Given the description of an element on the screen output the (x, y) to click on. 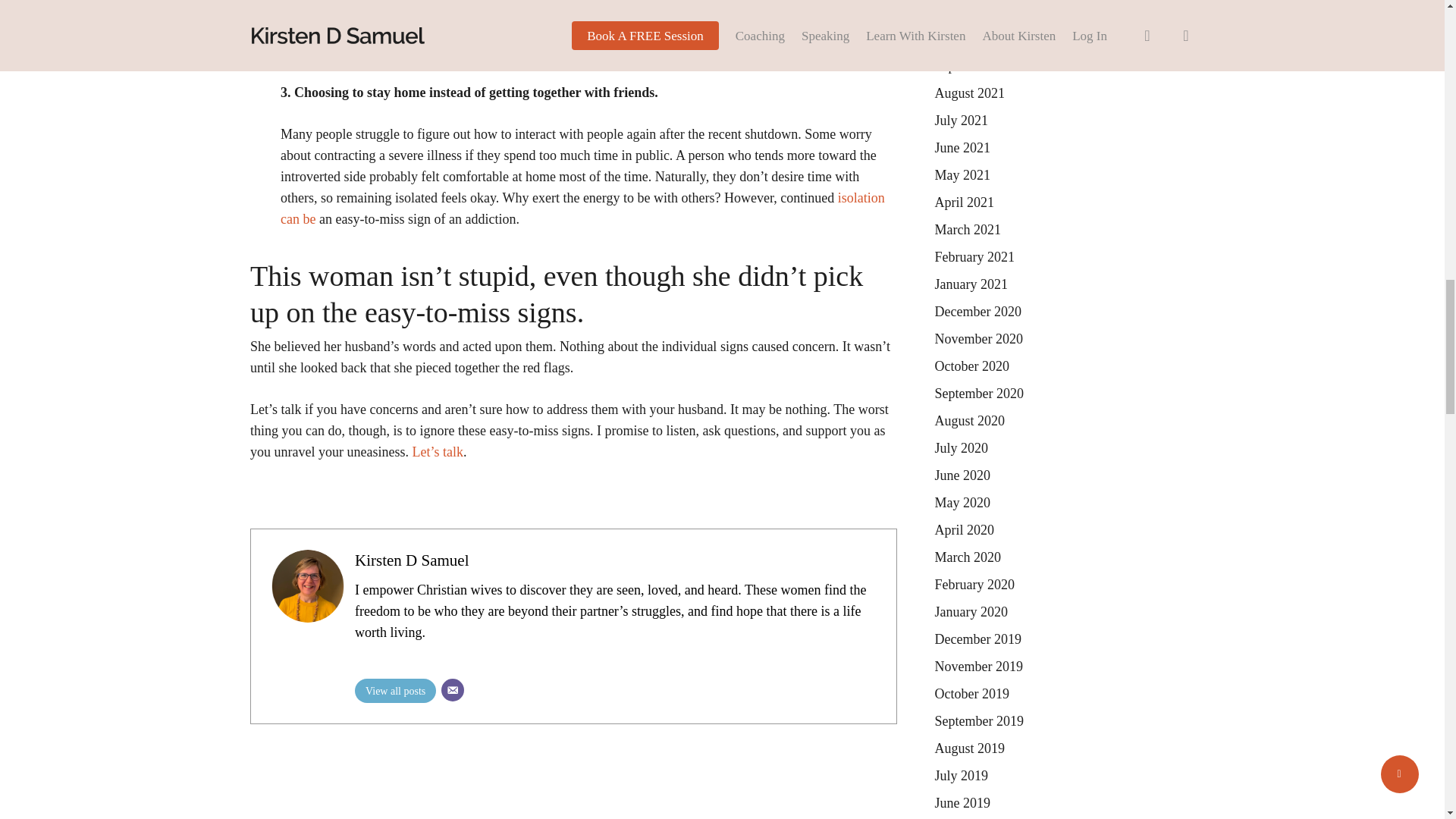
isolation can be (583, 208)
new boundary issue to discuss (415, 29)
View all posts (395, 690)
Kirsten D Samuel (411, 560)
View all posts (395, 690)
Kirsten D Samuel (411, 560)
